Given the description of an element on the screen output the (x, y) to click on. 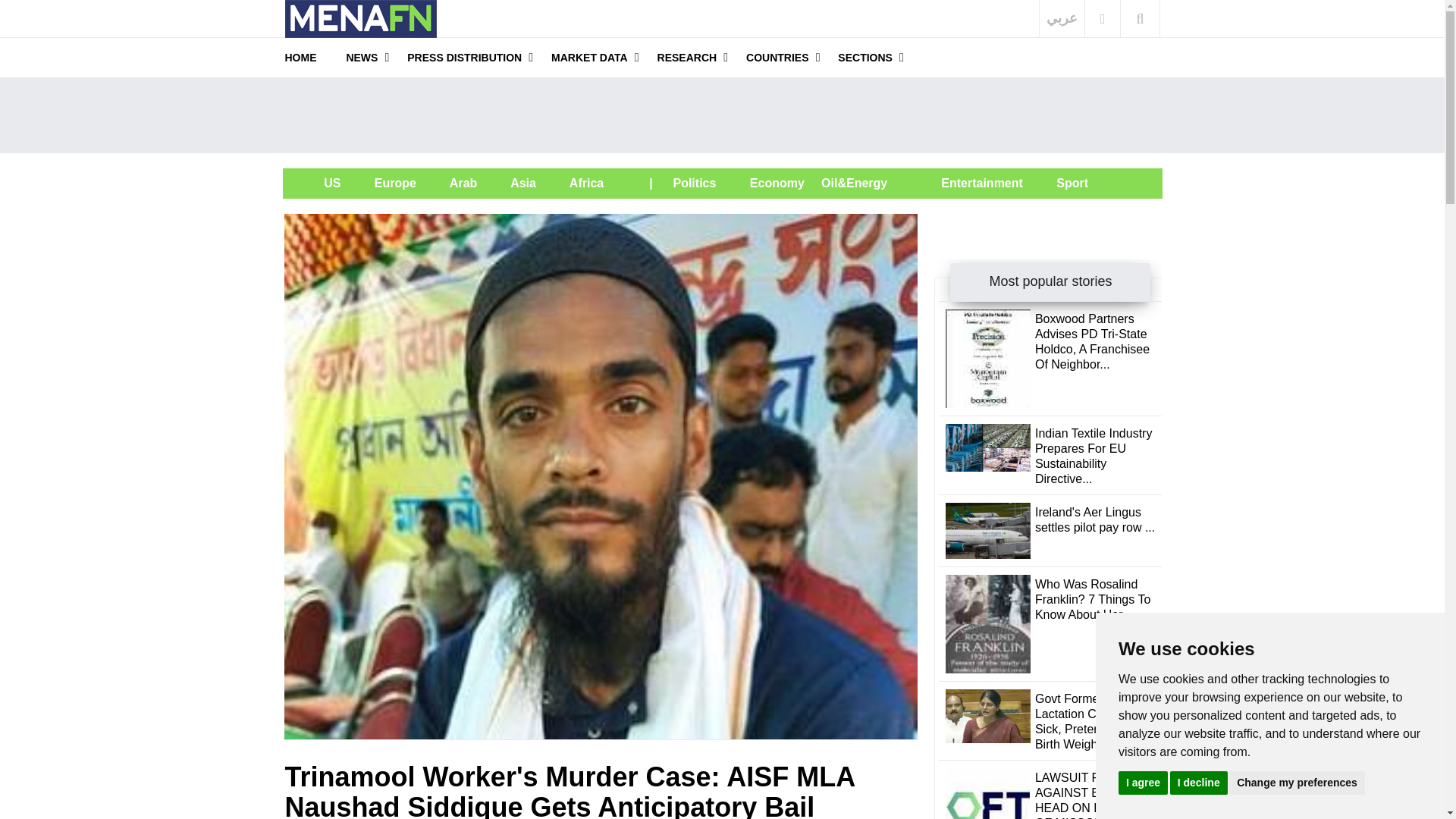
MARKET DATA (589, 56)
PRESS DISTRIBUTION (464, 56)
I decline (1198, 781)
Advertisement (721, 115)
I agree (1142, 781)
Change my preferences (1296, 781)
